Given the description of an element on the screen output the (x, y) to click on. 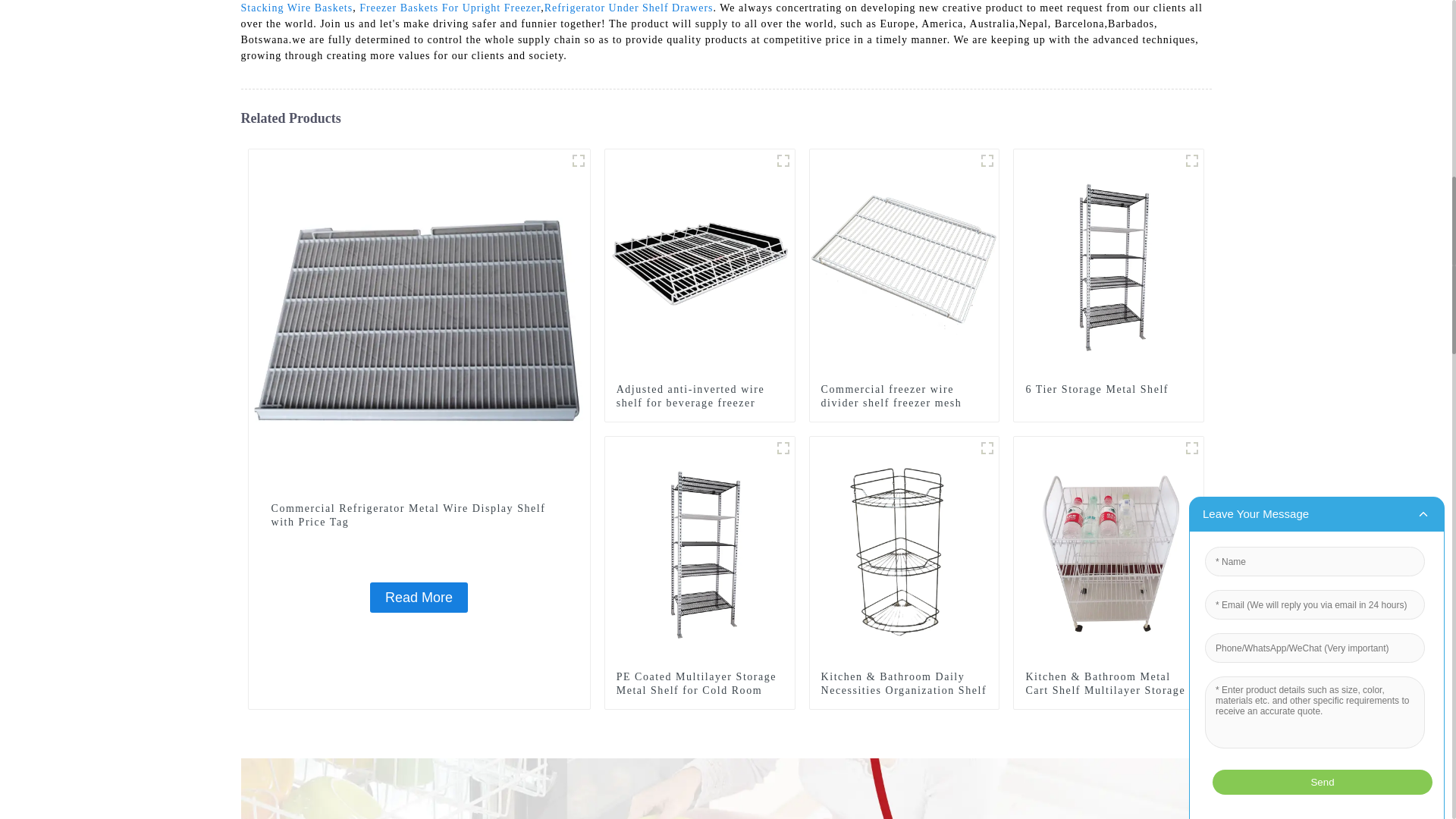
Freezer-Storage-Basket-Fruit-Basket-Freezer-Organizer (578, 160)
Adjusted anti-inverted wire shelf for beverage freezer (699, 396)
 Adjusted anti-inverted wire shelf for beverage freezer (699, 396)
Stacking Wire Baskets (297, 7)
6 Tier Storage Metal Shelf (1108, 389)
Commercial freezer wire divider shelf freezer mesh shelf (986, 160)
Adjusted anti-inverted wire shelf for beverage freezer (782, 160)
 Adjusted anti-inverted wire shelf for beverage freezer (699, 262)
PE Coated Multilayer Storage Metal Shelf for Cold Room (782, 447)
Freezer Baskets For Upright Freezer (449, 7)
PE Coated Multilayer Storage Metal Shelf for Cold Room (699, 549)
Refrigerator Under Shelf Drawers (628, 7)
Stacking Wire Baskets (297, 7)
